Given the description of an element on the screen output the (x, y) to click on. 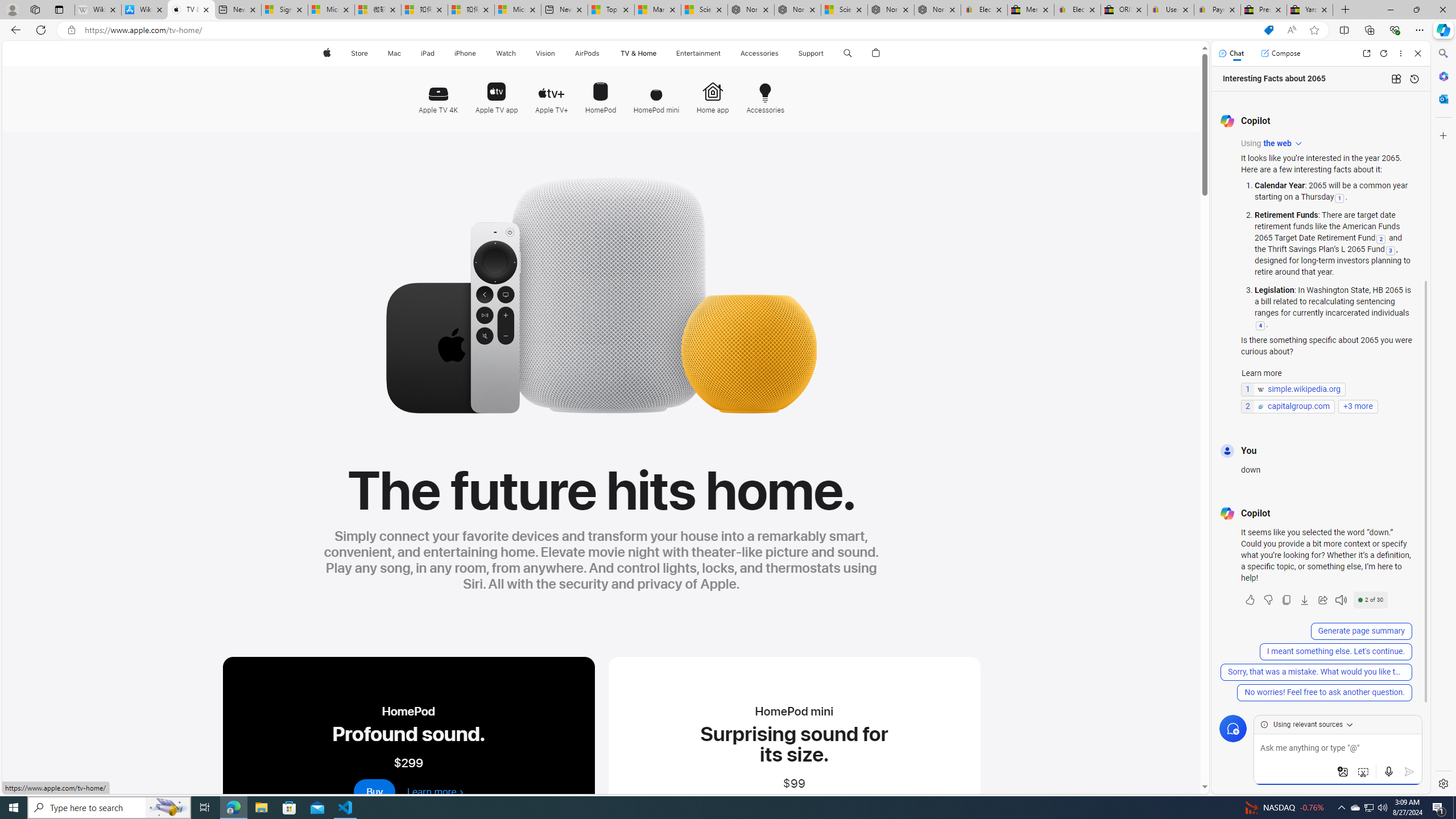
Sign in to your Microsoft account (284, 9)
Entertainment menu (722, 53)
Side bar (1443, 418)
Store menu (370, 53)
Support (810, 53)
Store (359, 53)
iPhone menu (477, 53)
AutomationID: globalnav-bag (876, 53)
